Given the description of an element on the screen output the (x, y) to click on. 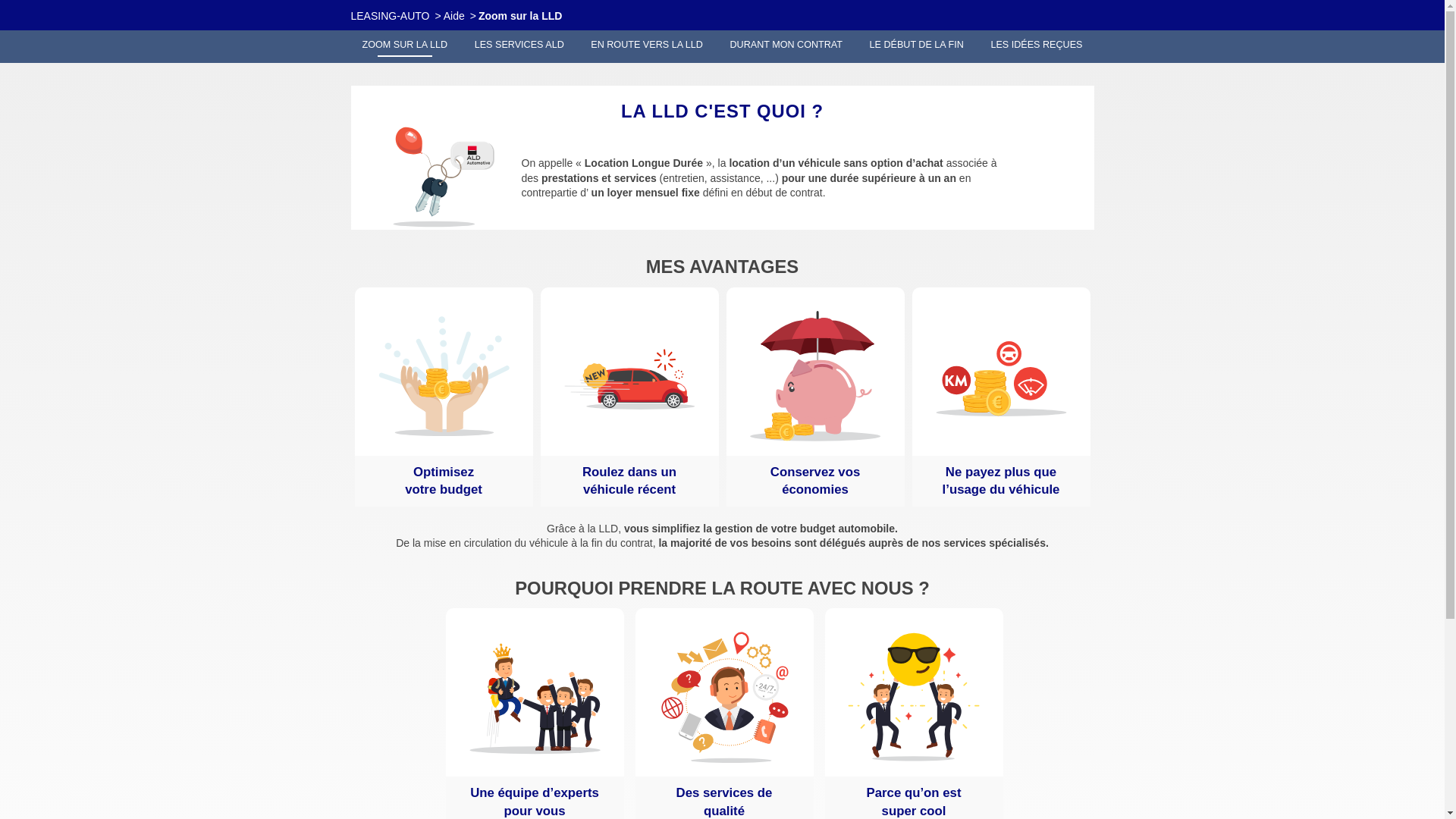
ZOOM SUR LA LLD Element type: text (404, 45)
LEASING-AUTO Element type: text (389, 15)
EN ROUTE VERS LA LLD Element type: text (646, 45)
Zoom sur la LLD Element type: text (519, 15)
Aide Element type: text (453, 15)
DURANT MON CONTRAT Element type: text (785, 45)
LES SERVICES ALD Element type: text (519, 45)
